Given the description of an element on the screen output the (x, y) to click on. 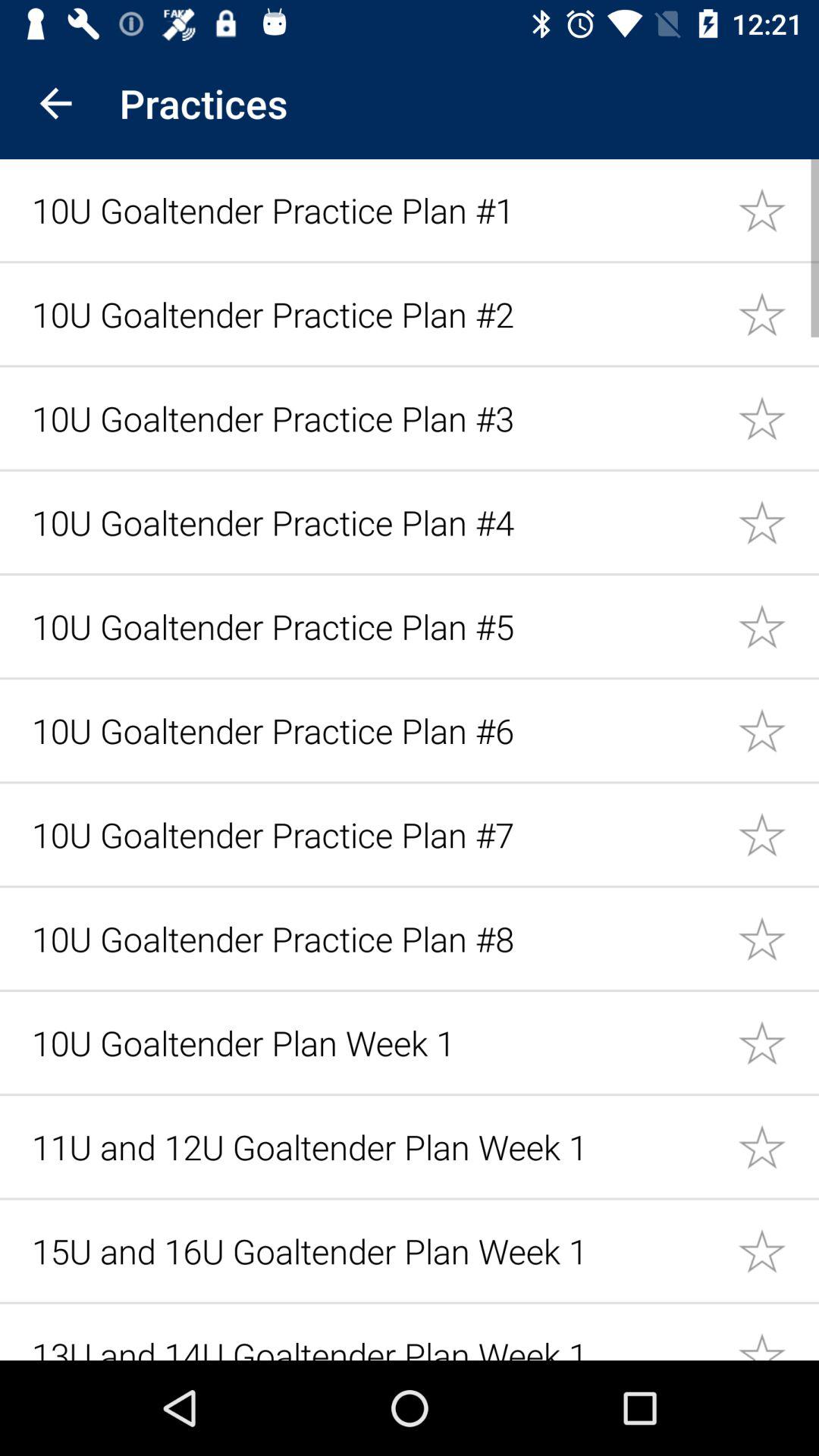
toggle mark option (778, 1250)
